Given the description of an element on the screen output the (x, y) to click on. 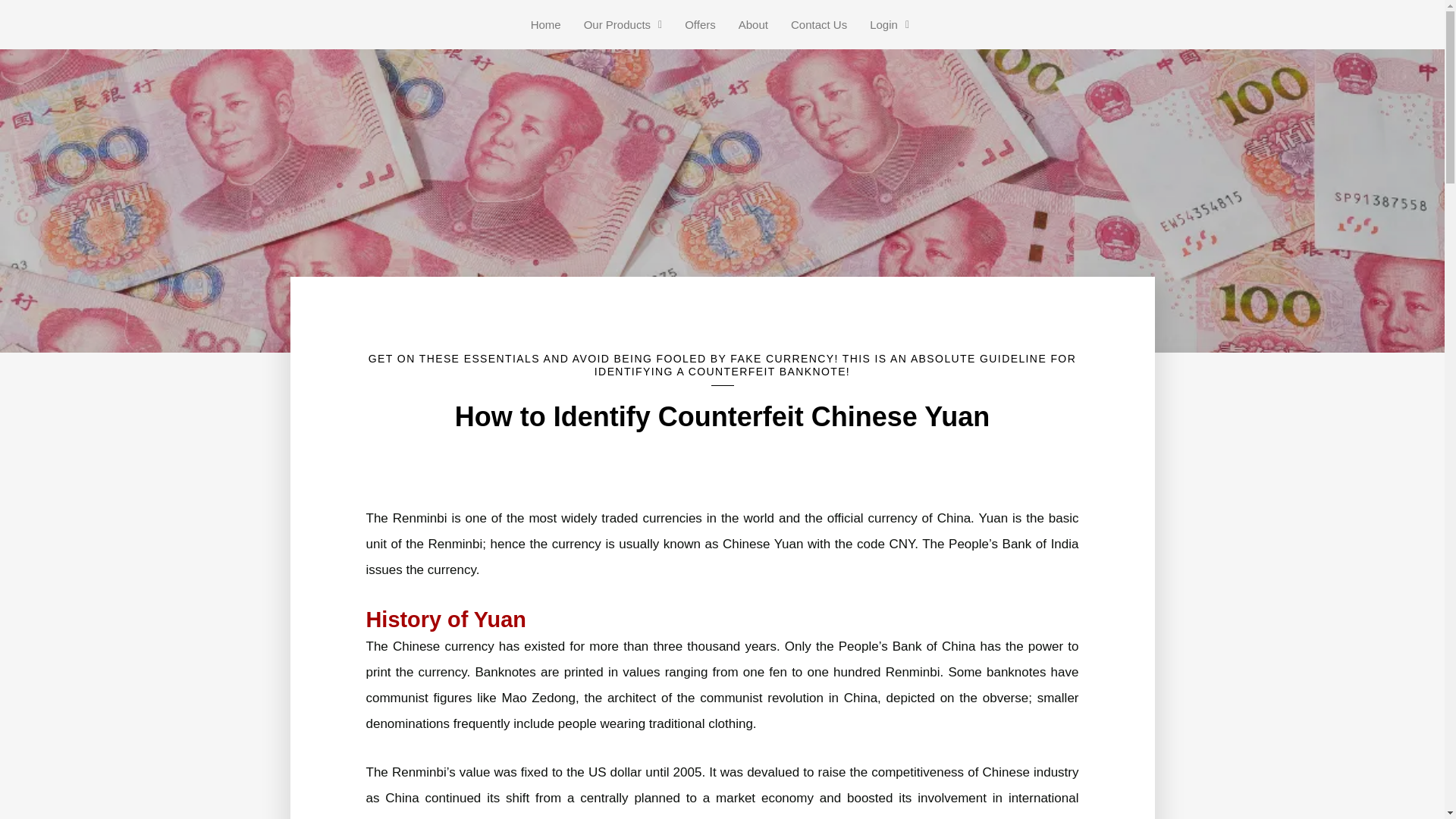
Our Products (623, 24)
Login (889, 24)
Offers (699, 24)
Home (545, 24)
About (752, 24)
Contact Us (818, 24)
